Given the description of an element on the screen output the (x, y) to click on. 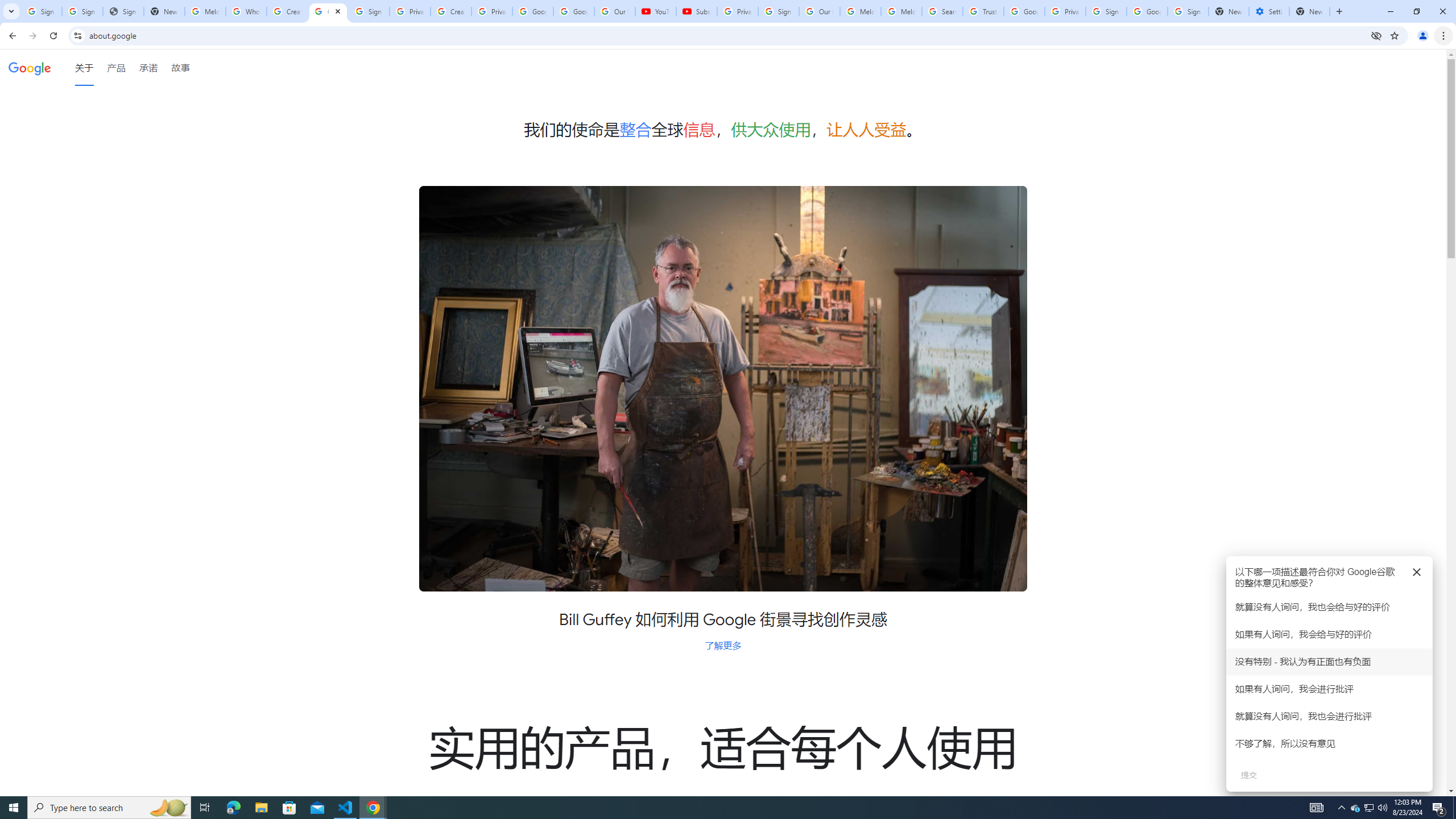
Who is my administrator? - Google Account Help (246, 11)
Trusted Information and Content - Google Safety Center (983, 11)
YouTube (655, 11)
Third-party cookies blocked (1376, 35)
System (6, 6)
Sign in - Google Accounts (1187, 11)
Create your Google Account (450, 11)
You (1422, 35)
Minimize (1390, 11)
